Given the description of an element on the screen output the (x, y) to click on. 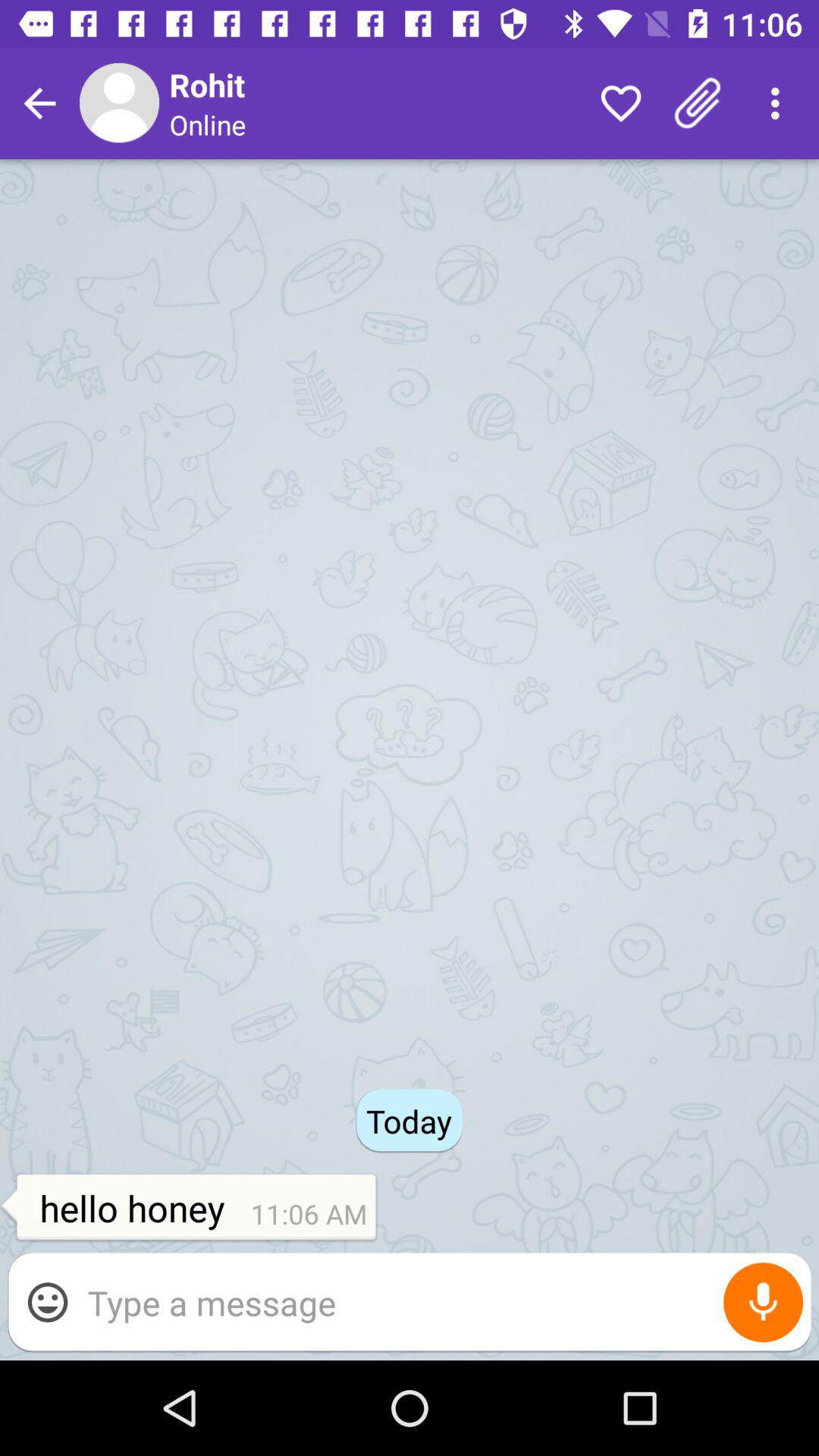
turn on the item next to the online icon (620, 103)
